Given the description of an element on the screen output the (x, y) to click on. 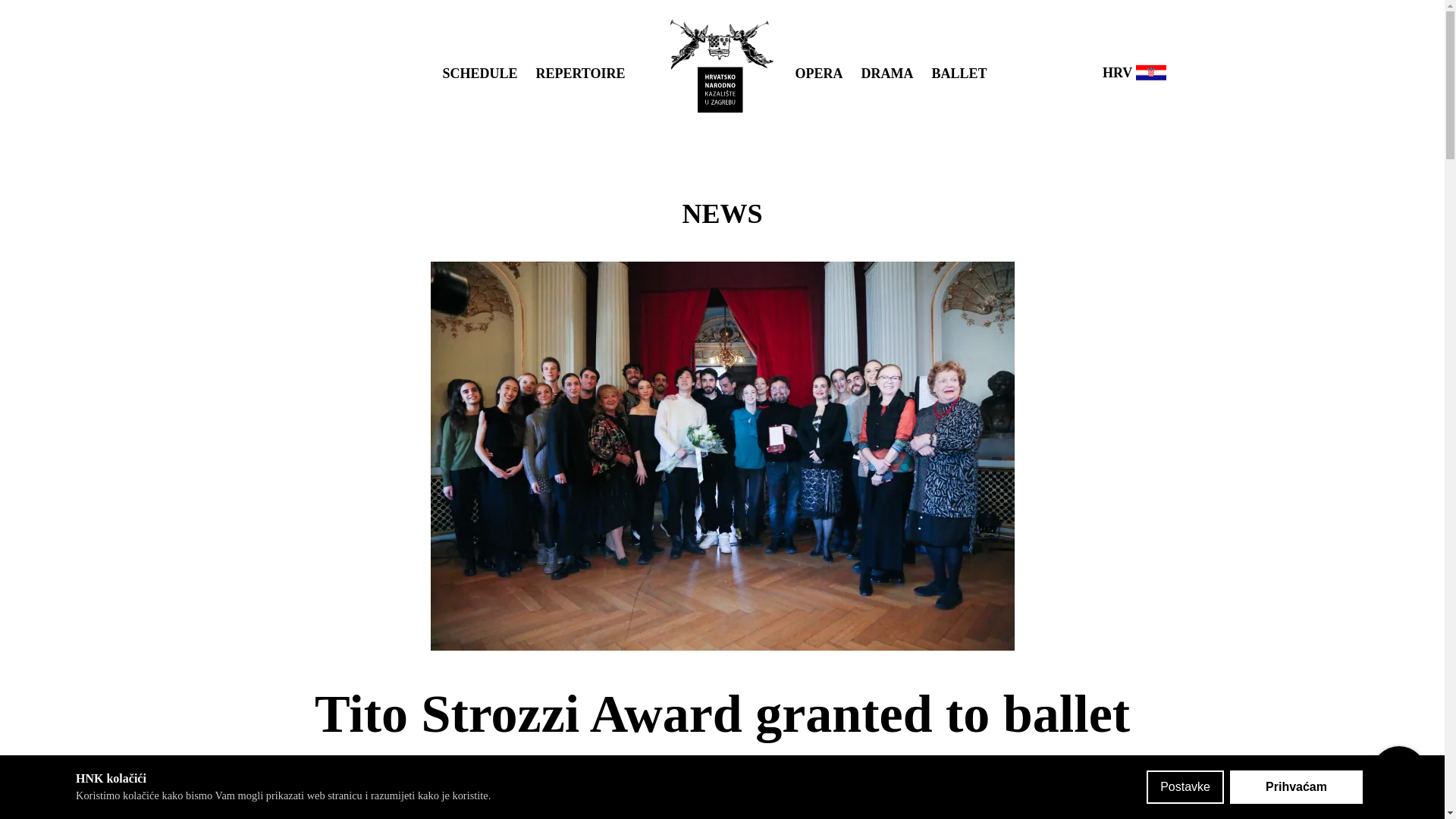
DRAMA (887, 73)
HRV (1134, 71)
SCHEDULE (479, 73)
NEWS (721, 213)
OPERA (818, 73)
REPERTOIRE (579, 73)
BALLET (959, 73)
